Given the description of an element on the screen output the (x, y) to click on. 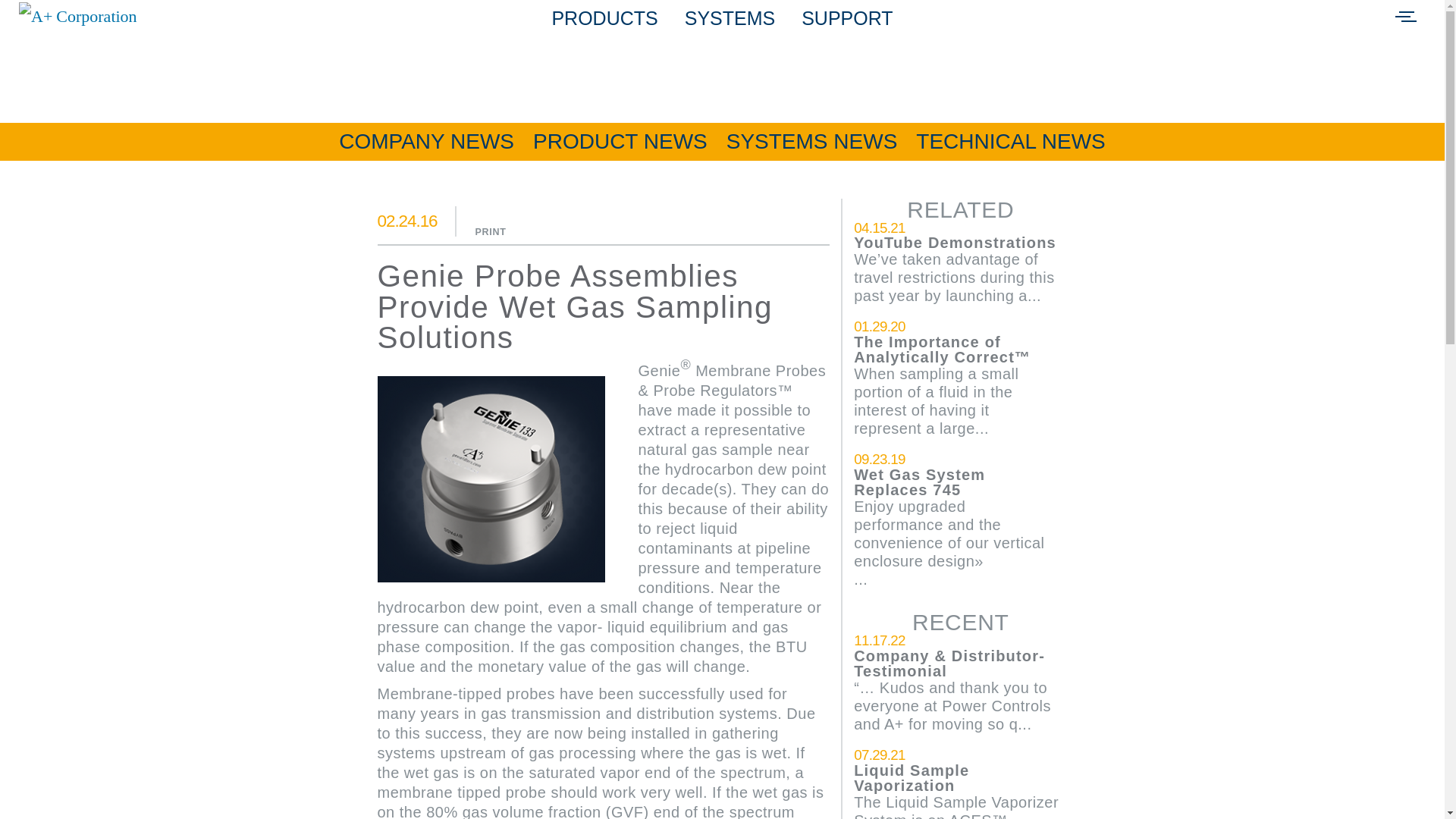
SHARE (799, 66)
Search (41, 21)
PRINT (491, 218)
PRODUCTS (604, 17)
COMPANY NEWS (426, 141)
SUPPORT (847, 17)
SYSTEMS NEWS (812, 141)
PRODUCT NEWS (619, 141)
TECHNICAL NEWS (1010, 141)
SYSTEMS (729, 17)
